Given the description of an element on the screen output the (x, y) to click on. 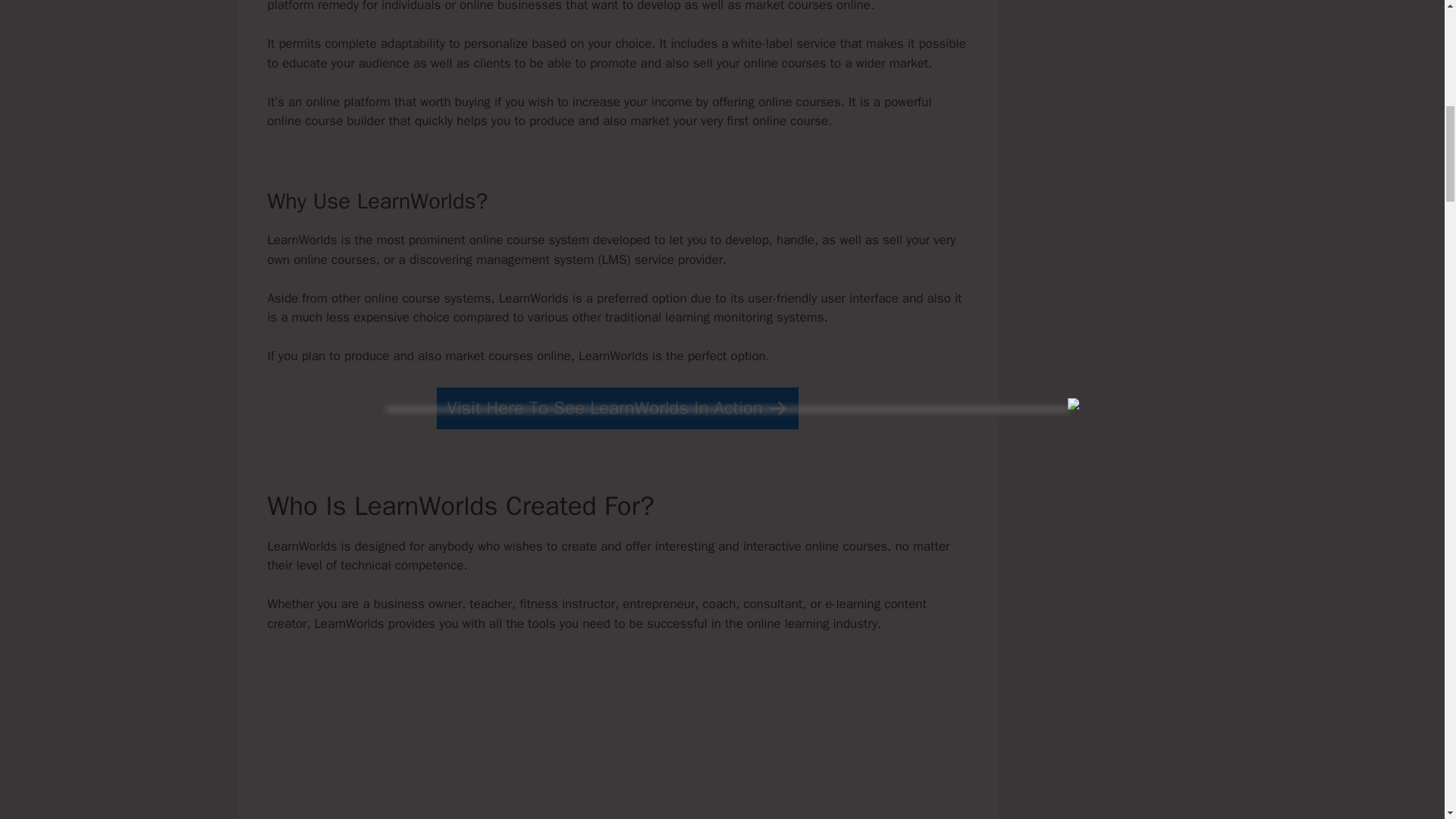
Visit Here To See LearnWorlds In Action (616, 408)
Scroll back to top (1406, 720)
